Given the description of an element on the screen output the (x, y) to click on. 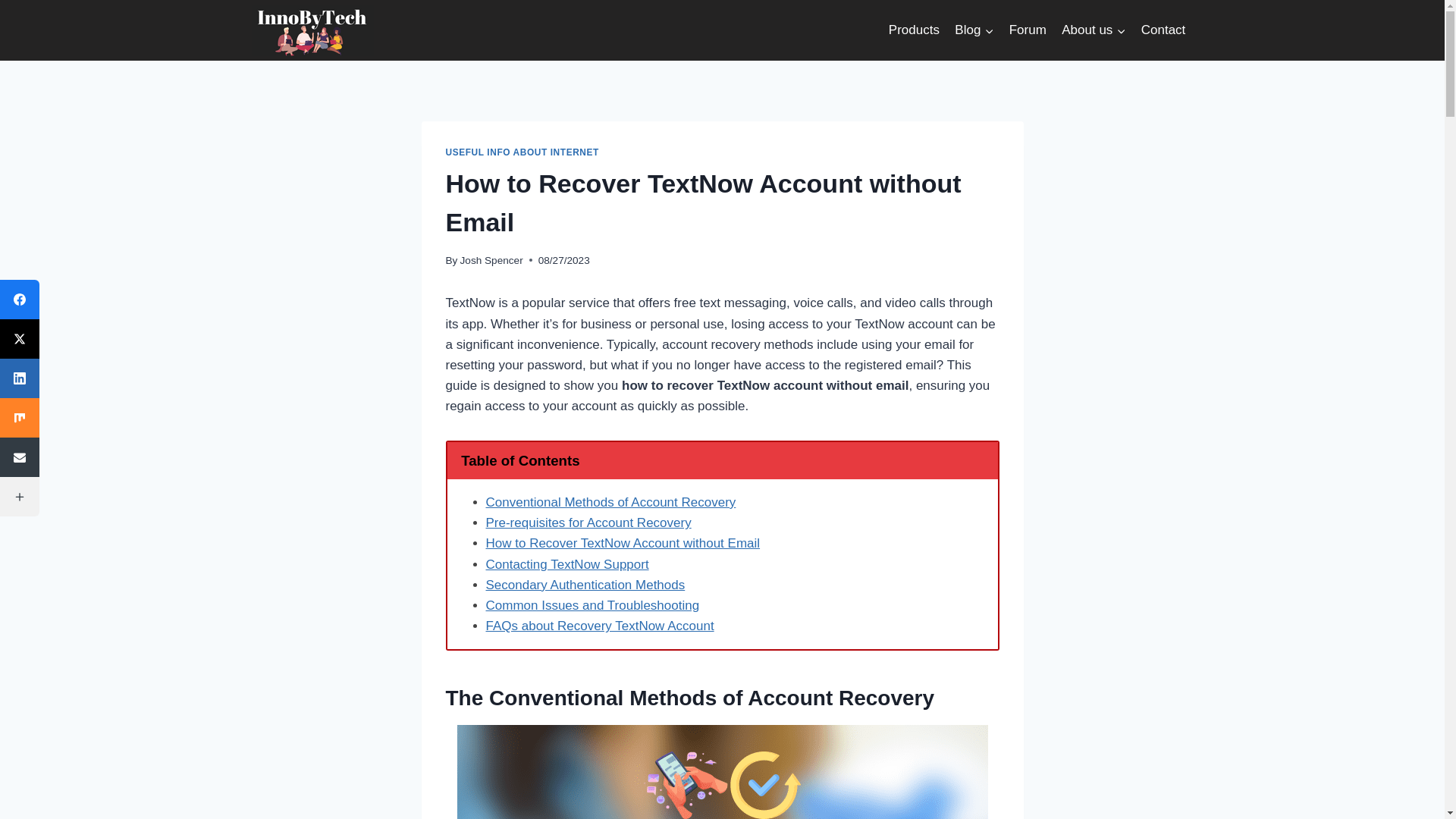
FAQs about Recovery TextNow Account (598, 626)
Contacting TextNow Support (565, 564)
Products (913, 30)
Common Issues and Troubleshooting (591, 605)
USEFUL INFO ABOUT INTERNET (521, 152)
Blog (974, 30)
Pre-requisites for Account Recovery (587, 522)
Contact (1163, 30)
Forum (1027, 30)
Secondary Authentication Methods (584, 585)
Josh Spencer (491, 260)
How to Recover TextNow Account without Email (622, 543)
About us (1093, 30)
Conventional Methods of Account Recovery (609, 502)
